Given the description of an element on the screen output the (x, y) to click on. 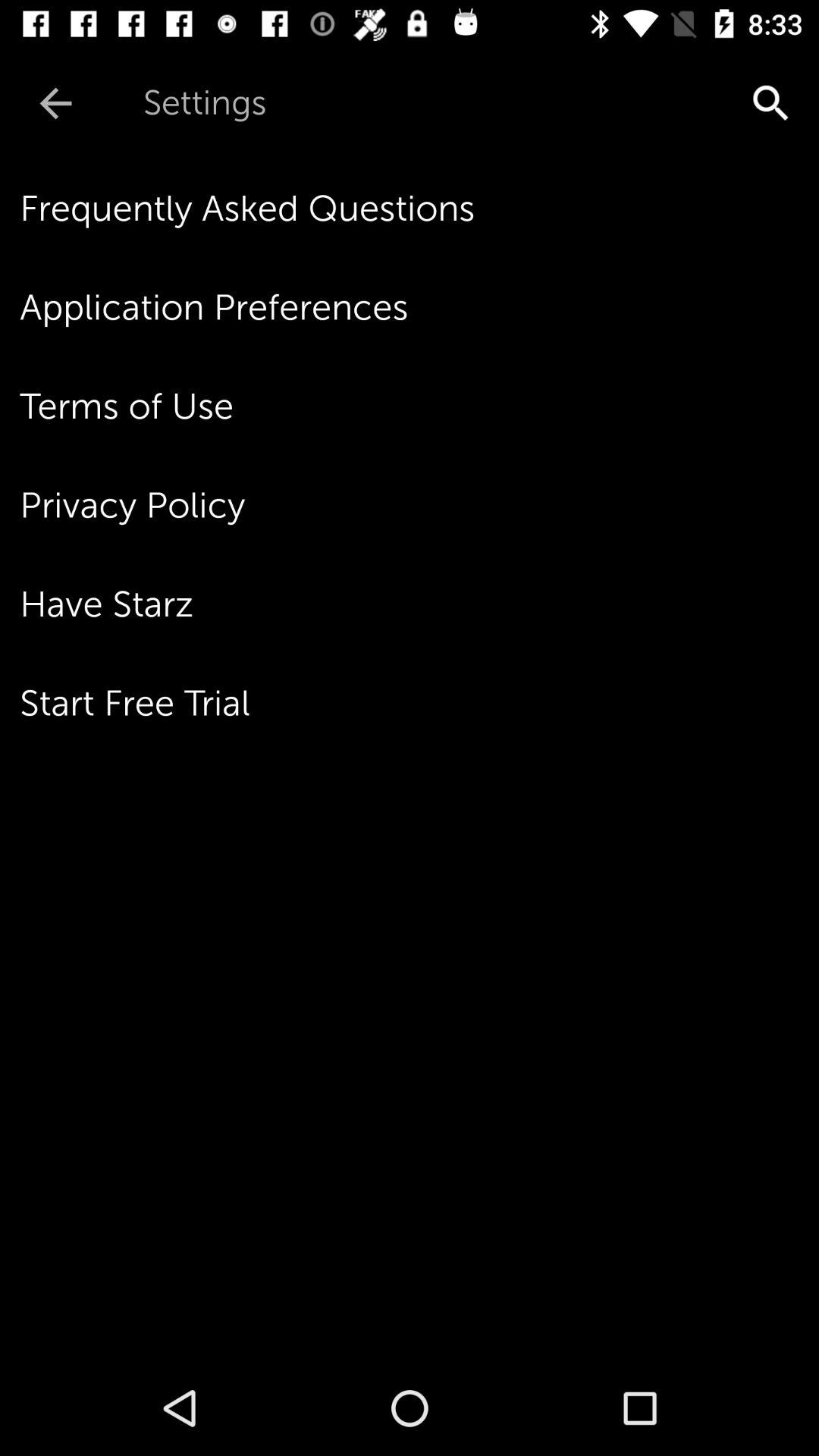
scroll until the application preferences (419, 307)
